Given the description of an element on the screen output the (x, y) to click on. 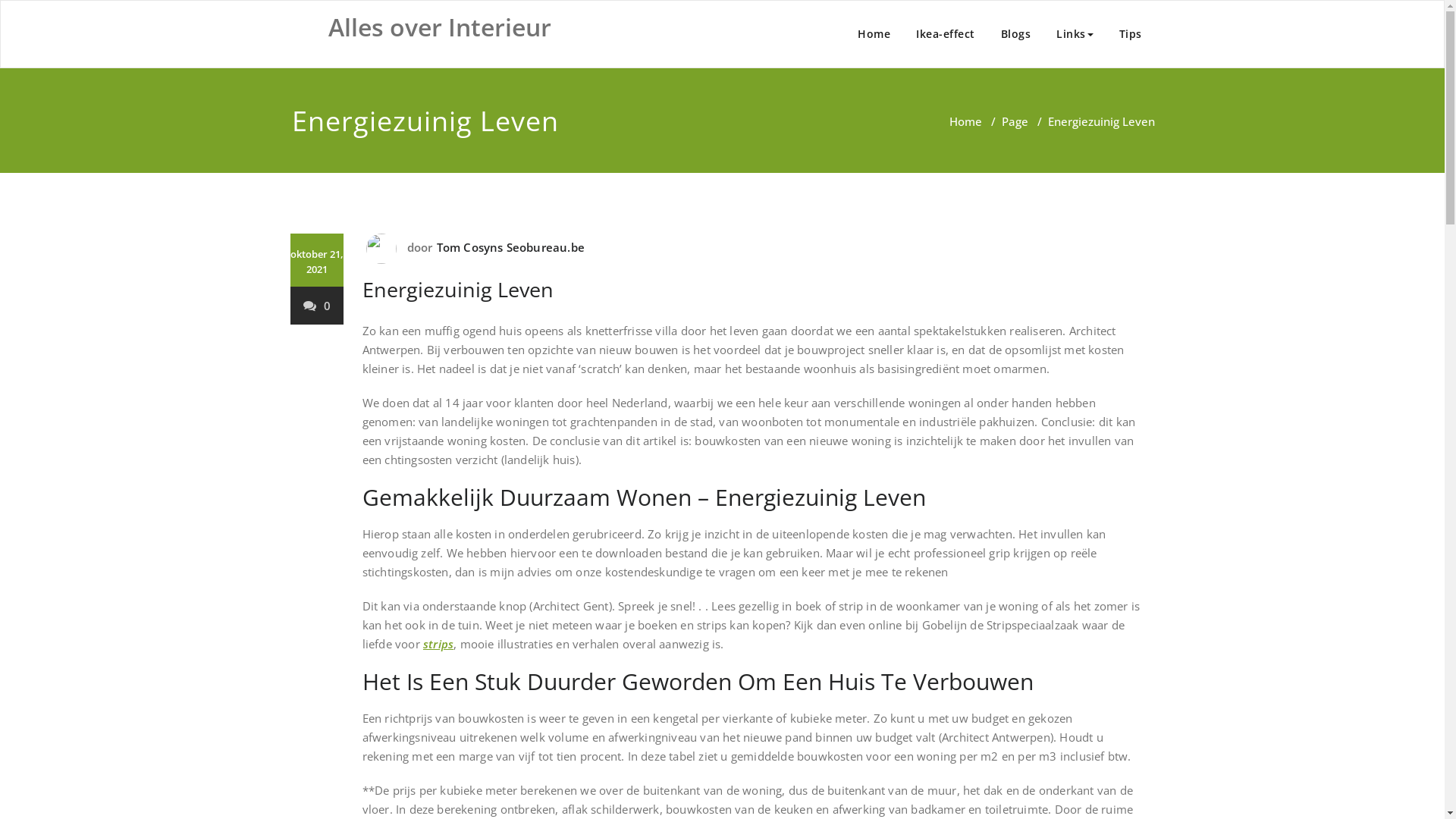
strips Element type: text (438, 643)
Links Element type: text (1074, 33)
0 Element type: text (316, 305)
Alles over Interieur Element type: text (438, 27)
Page Element type: text (1014, 120)
Home Element type: text (873, 33)
Blogs Element type: text (1015, 33)
Tips Element type: text (1129, 33)
Ikea-effect Element type: text (945, 33)
Tom Cosyns Seobureau.be Element type: text (508, 246)
Home Element type: text (965, 120)
